Given the description of an element on the screen output the (x, y) to click on. 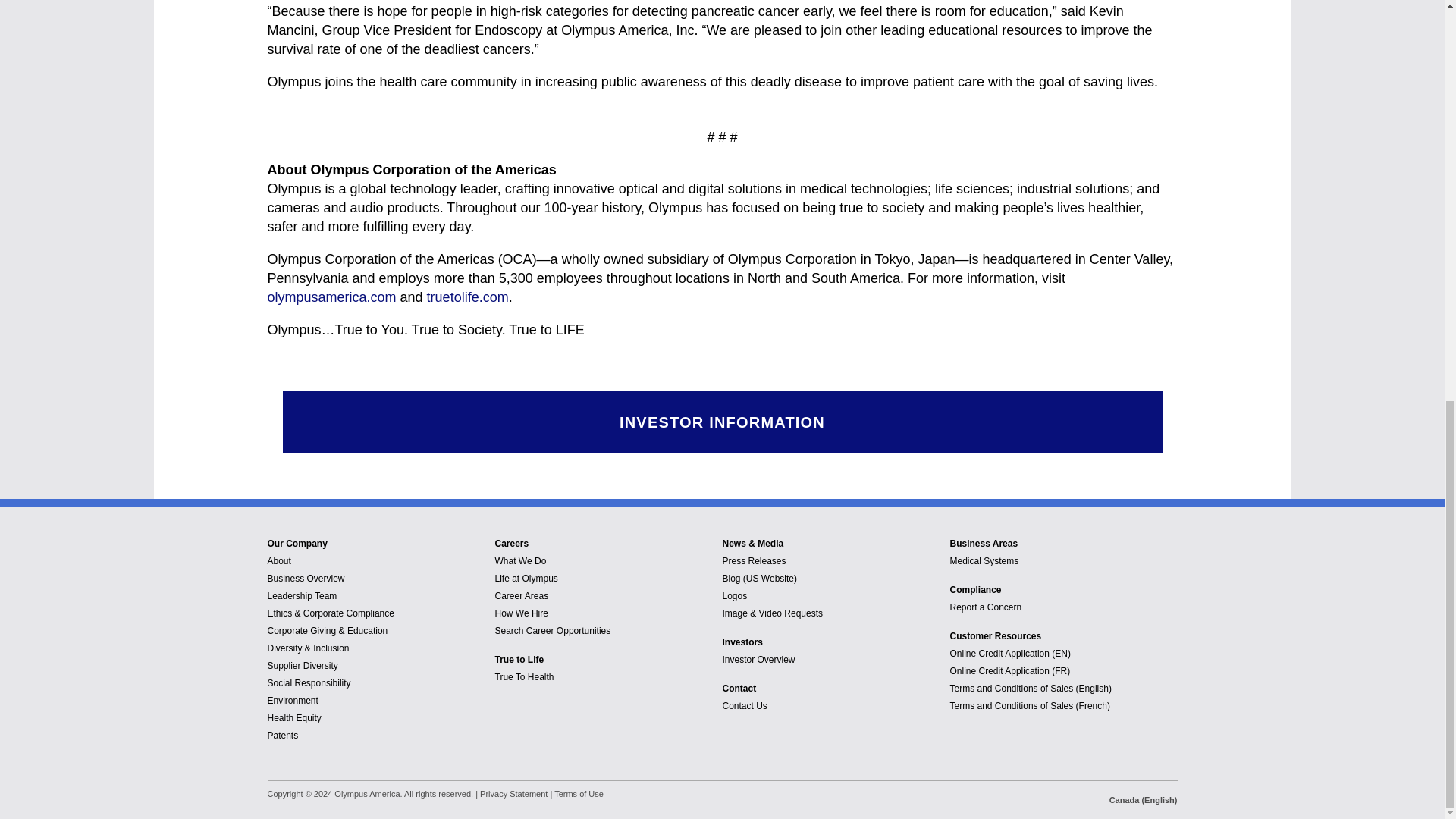
truetolife.com (467, 296)
INVESTOR INFORMATION (721, 422)
olympusamerica.com (331, 296)
